Given the description of an element on the screen output the (x, y) to click on. 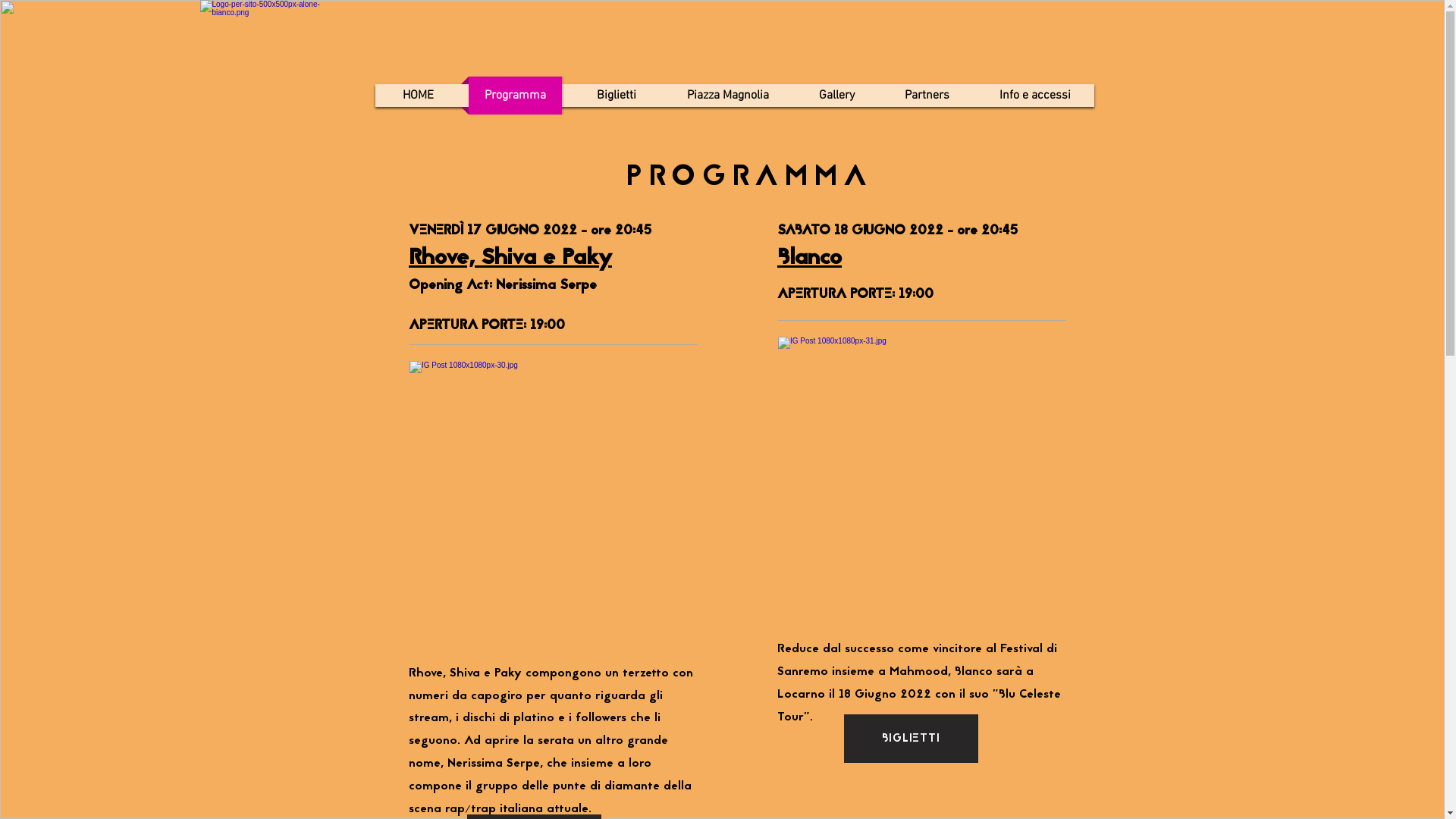
Biglietti Element type: text (616, 95)
Programma Element type: text (515, 95)
Gallery Element type: text (837, 95)
Piazza Magnolia Element type: text (726, 95)
BIGLIETTI Element type: text (910, 738)
Info e accessi Element type: text (1035, 95)
Partners Element type: text (926, 95)
HOME Element type: text (418, 95)
